Given the description of an element on the screen output the (x, y) to click on. 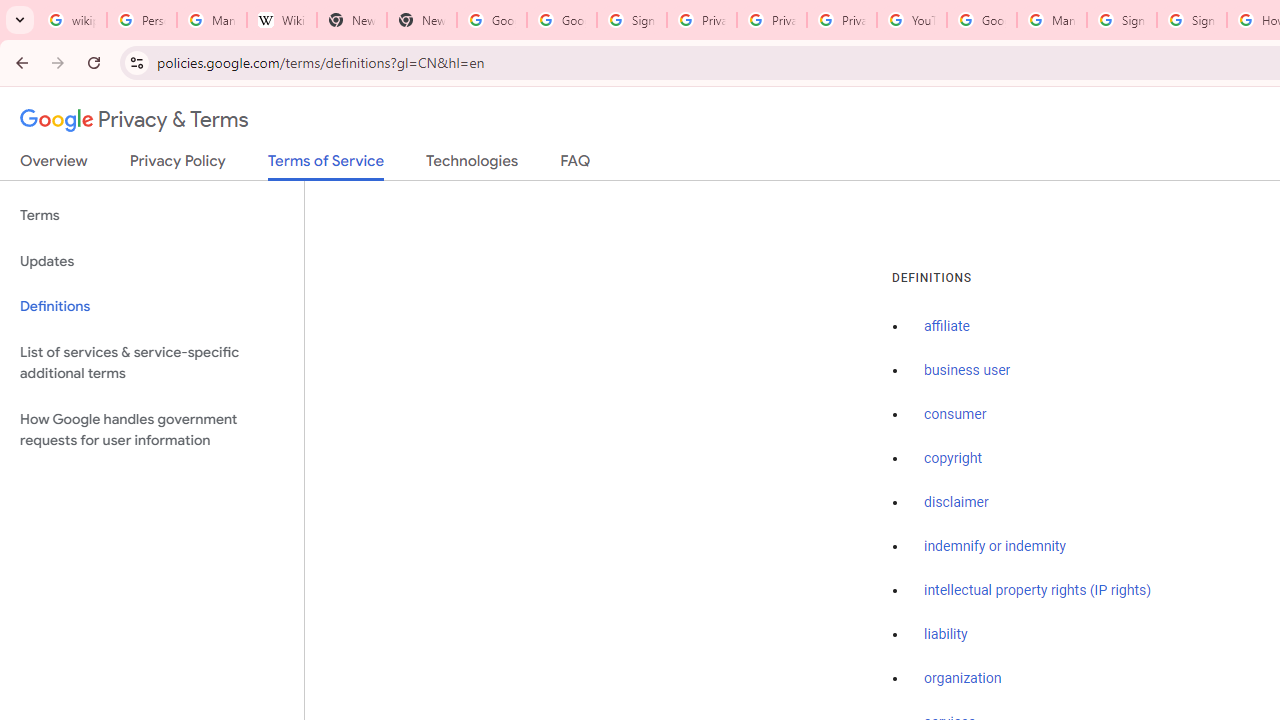
New Tab (421, 20)
Personalization & Google Search results - Google Search Help (141, 20)
Google Account Help (982, 20)
intellectual property rights (IP rights) (1038, 590)
organization (963, 679)
Manage your Location History - Google Search Help (211, 20)
copyright (952, 459)
